Given the description of an element on the screen output the (x, y) to click on. 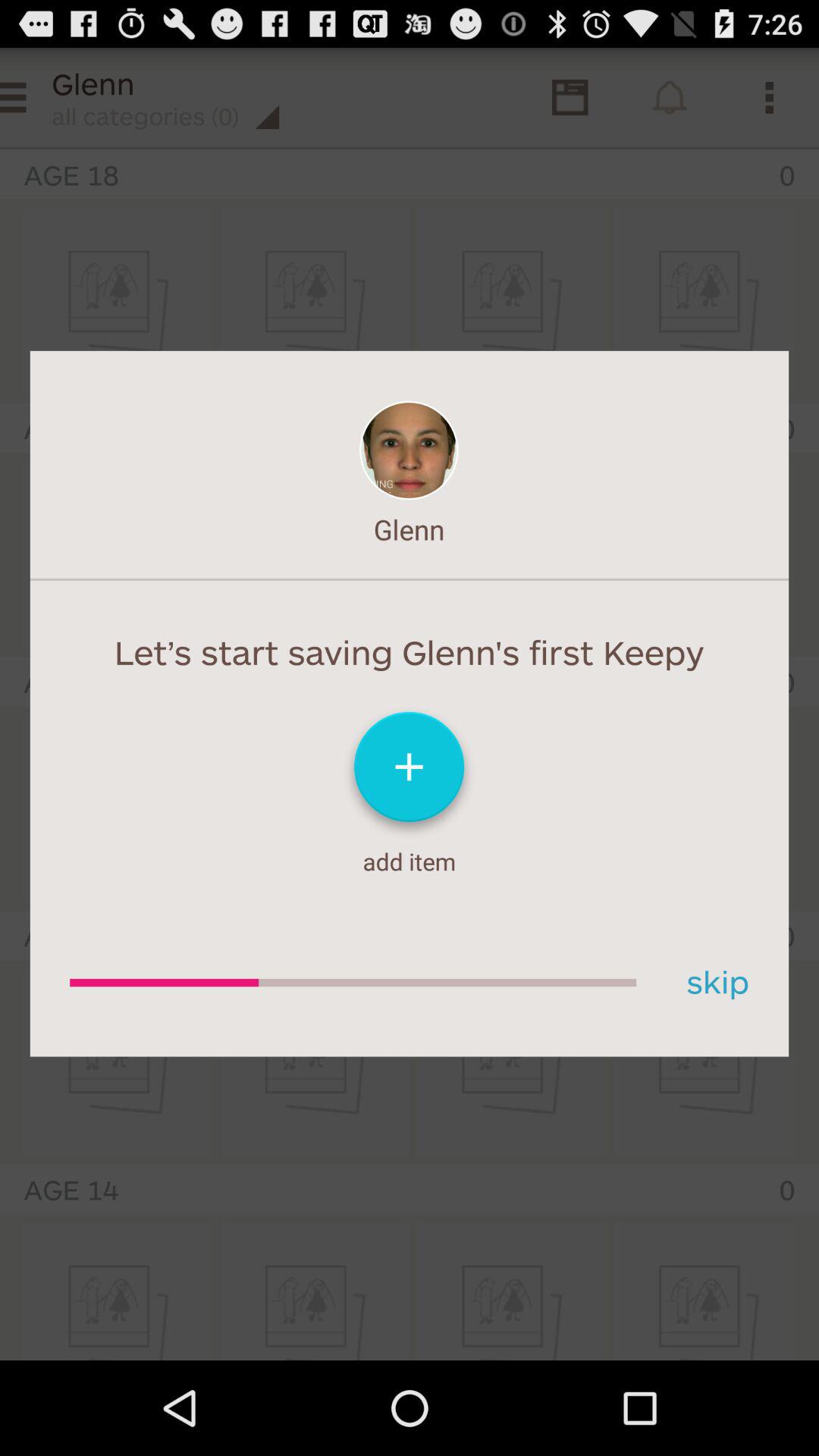
open item at the bottom right corner (712, 982)
